Given the description of an element on the screen output the (x, y) to click on. 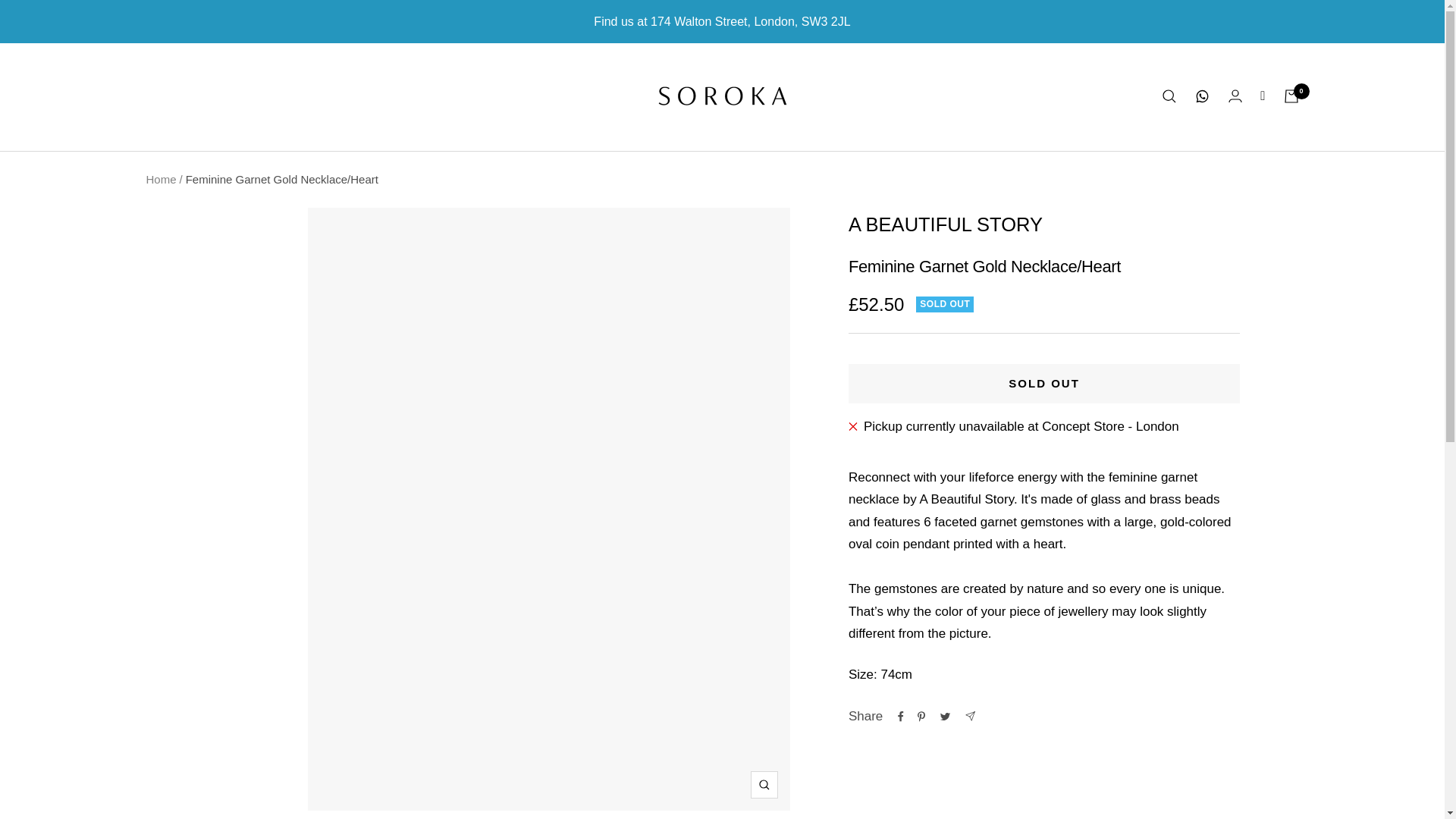
0 (1290, 96)
Zoom (764, 784)
A BEAUTIFUL STORY (945, 224)
Soroka (722, 95)
Home (160, 178)
SOLD OUT (1044, 383)
